Given the description of an element on the screen output the (x, y) to click on. 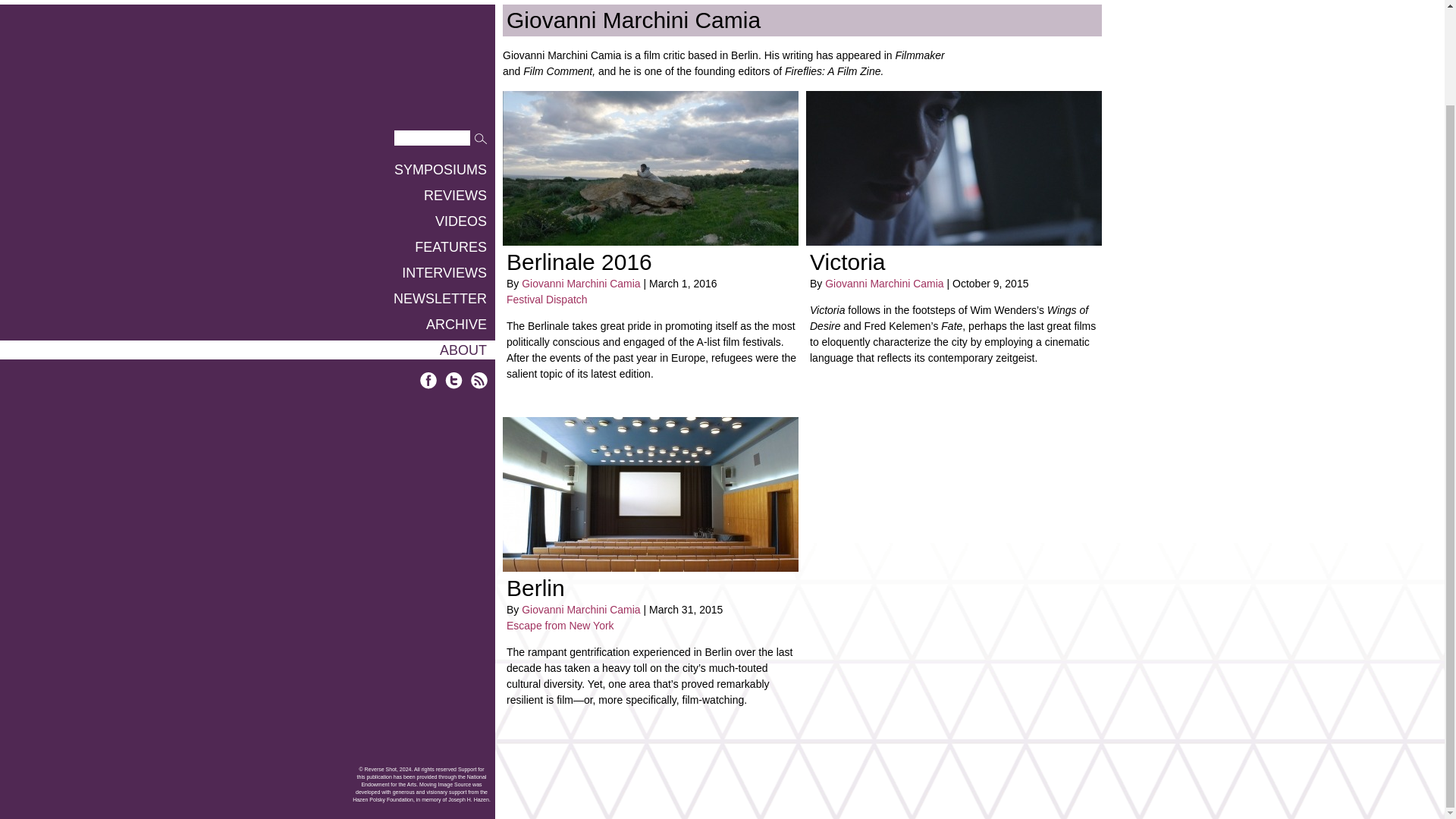
Twitter (454, 271)
RSS (478, 271)
INTERVIEWS (247, 162)
Giovanni Marchini Camia (884, 283)
FEATURES (247, 137)
VIDEOS (247, 111)
Twitter (454, 271)
Festival Dispatch (547, 299)
RSS Feed (478, 271)
Berlinale 2016 (579, 261)
Giovanni Marchini Camia (580, 283)
ABOUT (247, 240)
Victoria (847, 261)
ARCHIVE (247, 214)
Facebook (429, 271)
